Given the description of an element on the screen output the (x, y) to click on. 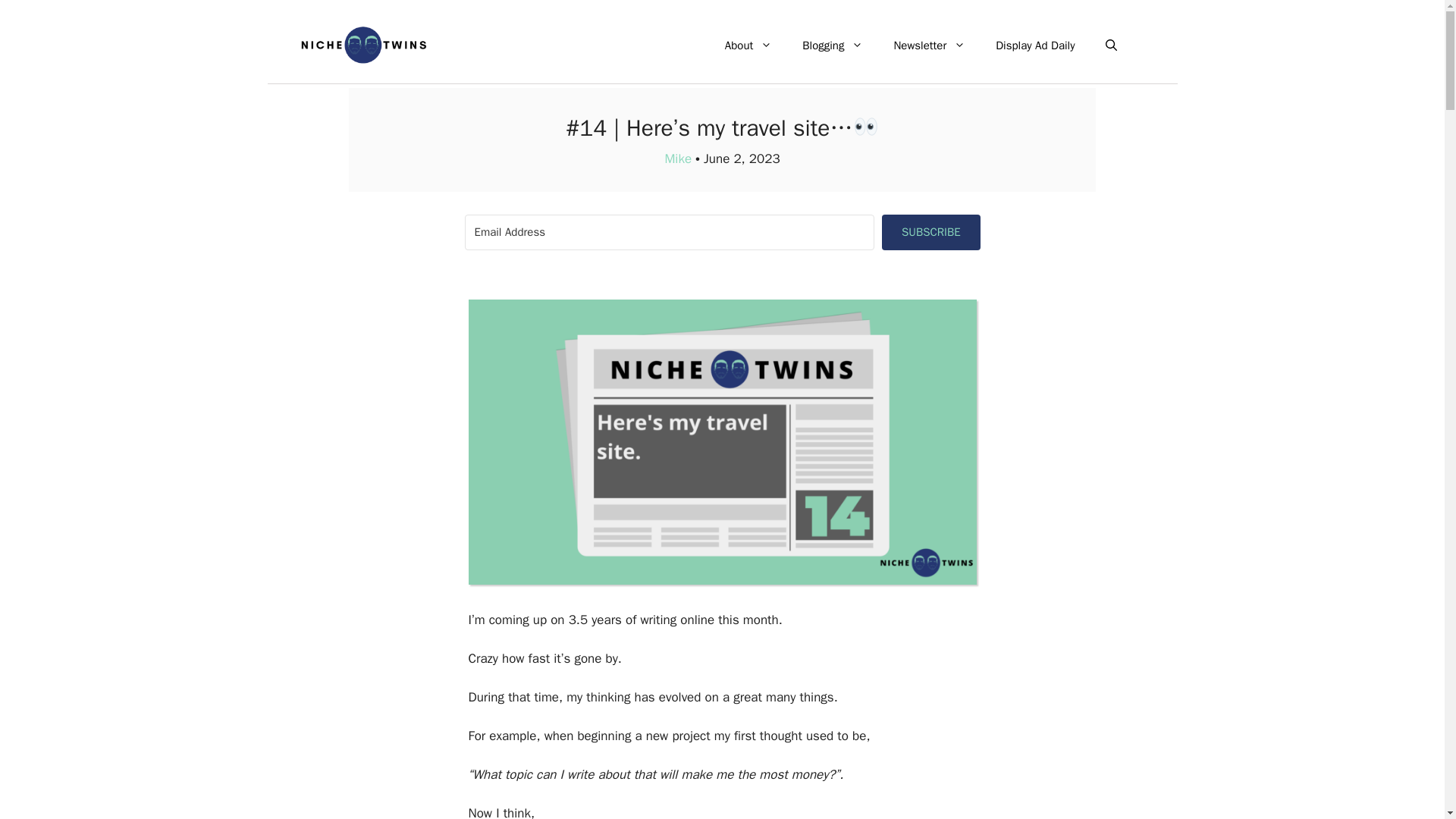
About (748, 44)
Mike (677, 158)
Newsletter (928, 44)
SUBSCRIBE (930, 231)
Blogging (832, 44)
Display Ad Daily (1034, 44)
